Given the description of an element on the screen output the (x, y) to click on. 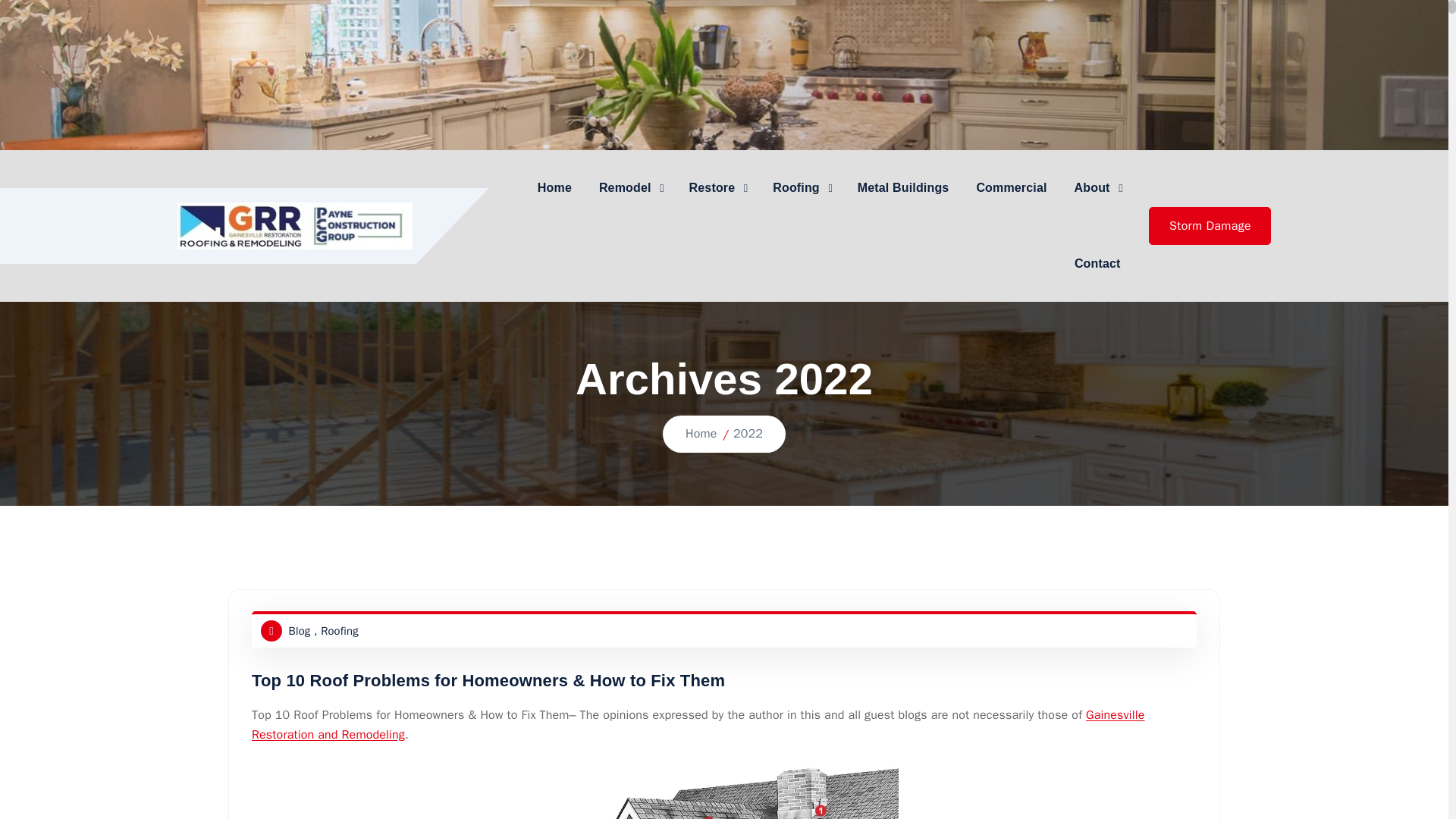
Commercial (1010, 187)
Restore (717, 187)
Restore (717, 187)
Remodel (630, 187)
Remodel (630, 187)
Roofing (801, 187)
Metal Buildings (903, 187)
Contact (1097, 264)
About (1097, 187)
Roofing (801, 187)
